Given the description of an element on the screen output the (x, y) to click on. 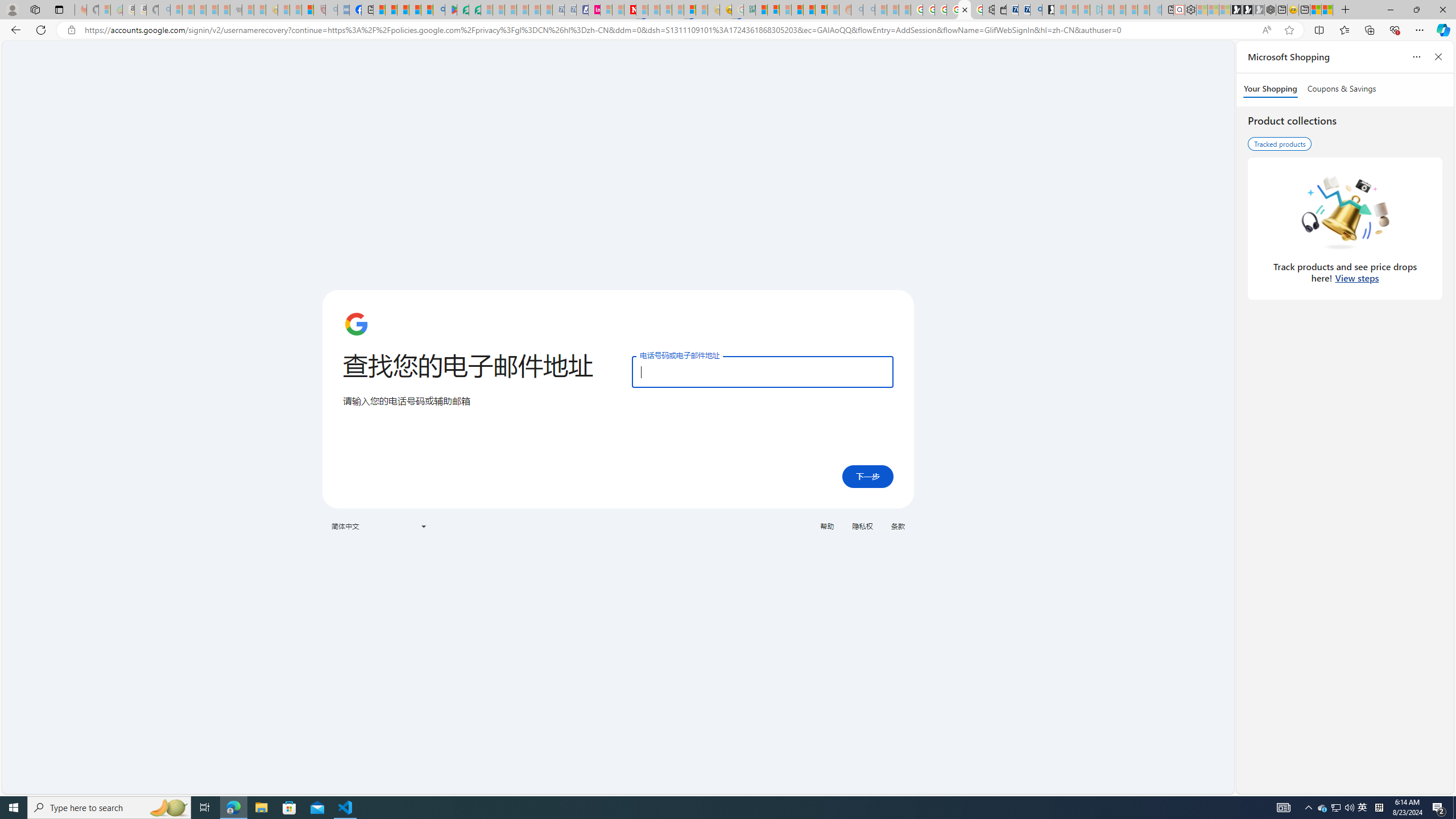
Latest Politics News & Archive | Newsweek.com (629, 9)
